Given the description of an element on the screen output the (x, y) to click on. 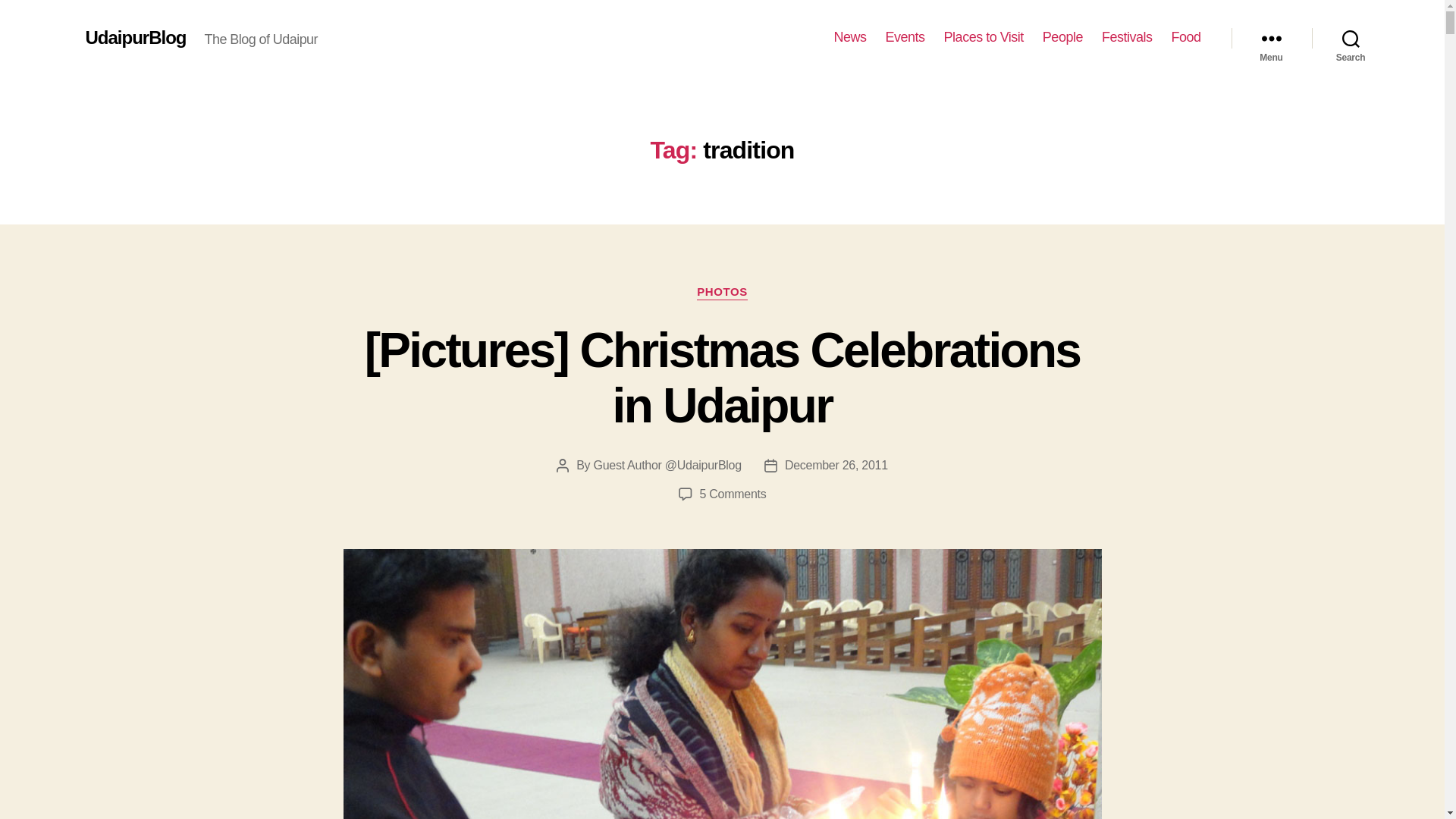
Menu (1271, 37)
December 26, 2011 (836, 464)
UdaipurBlog (135, 37)
People (1062, 37)
Search (1350, 37)
Food (1184, 37)
Festivals (1127, 37)
News (850, 37)
PHOTOS (721, 292)
Events (904, 37)
